Given the description of an element on the screen output the (x, y) to click on. 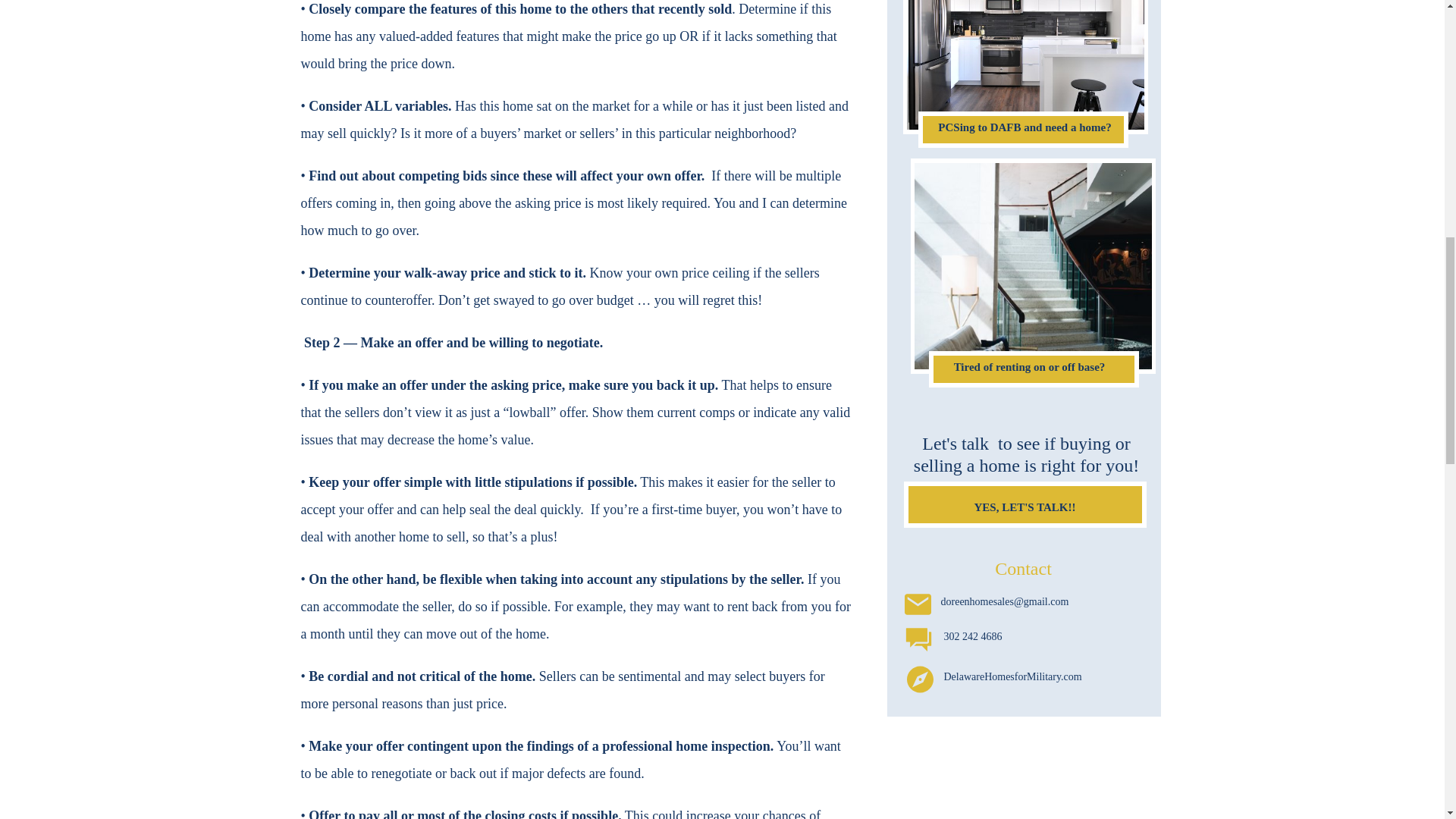
Tired of renting on or off base? (1029, 369)
PCSing to DAFB and need a home? (1024, 129)
YES, LET'S TALK!! (1024, 504)
